Given the description of an element on the screen output the (x, y) to click on. 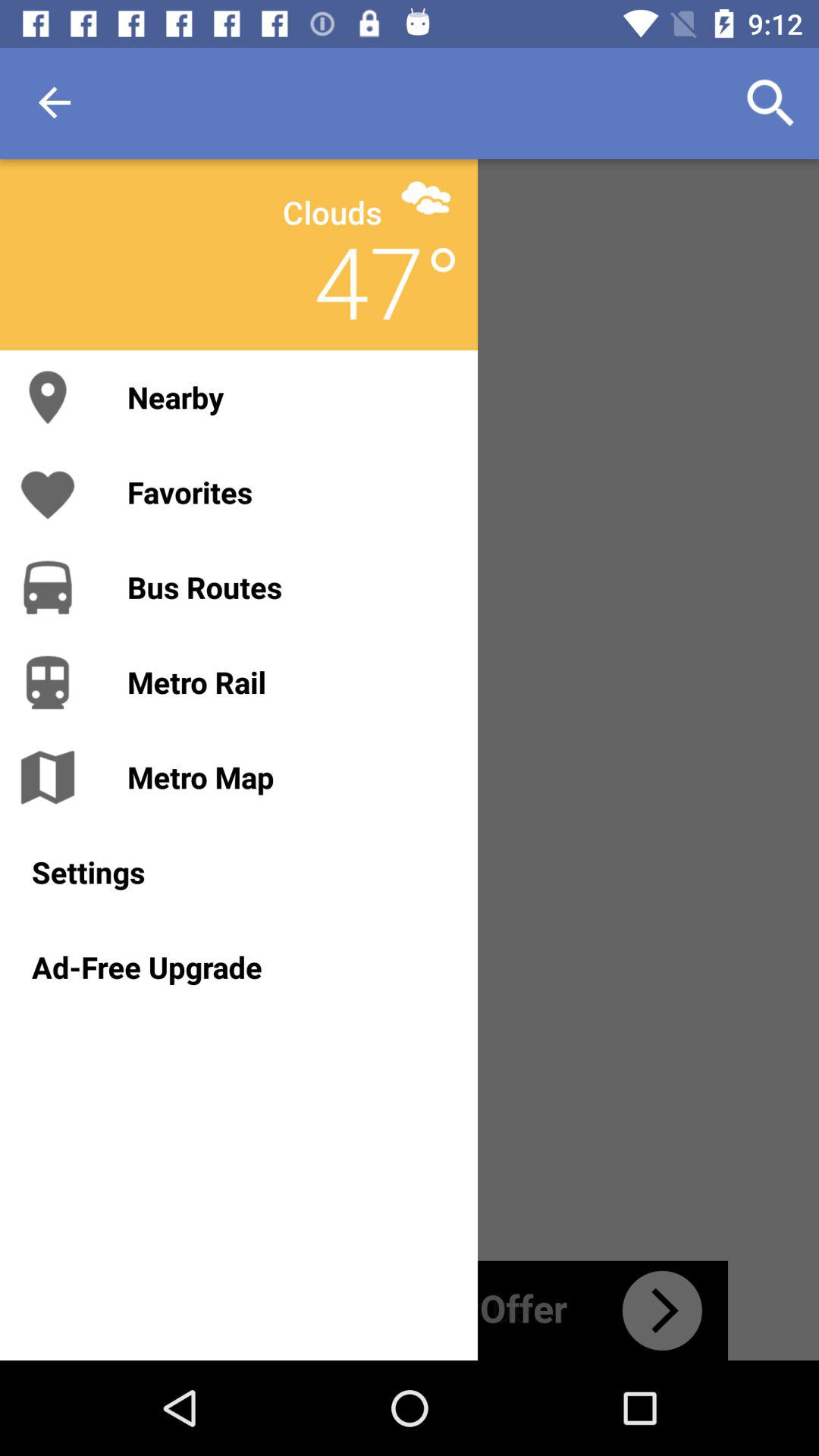
jump to favorites icon (286, 492)
